Given the description of an element on the screen output the (x, y) to click on. 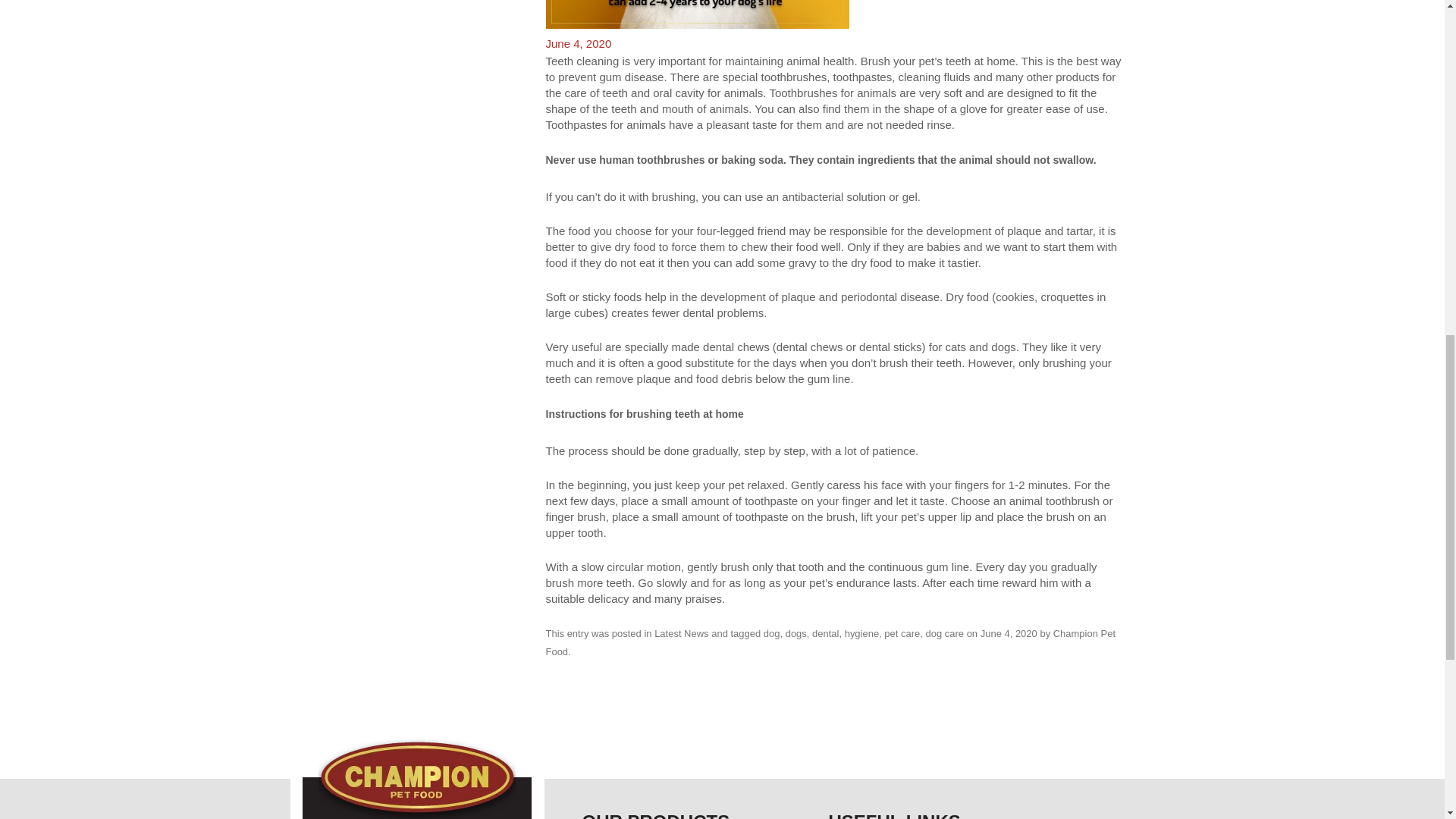
pet care (901, 633)
June 4, 2020 (1007, 633)
dogs (796, 633)
View all posts by Champion Pet Food (831, 642)
dental (825, 633)
hygiene (861, 633)
Champion Pet Food (831, 642)
Latest News (680, 633)
1:39 pm (1007, 633)
dog care (943, 633)
